Given the description of an element on the screen output the (x, y) to click on. 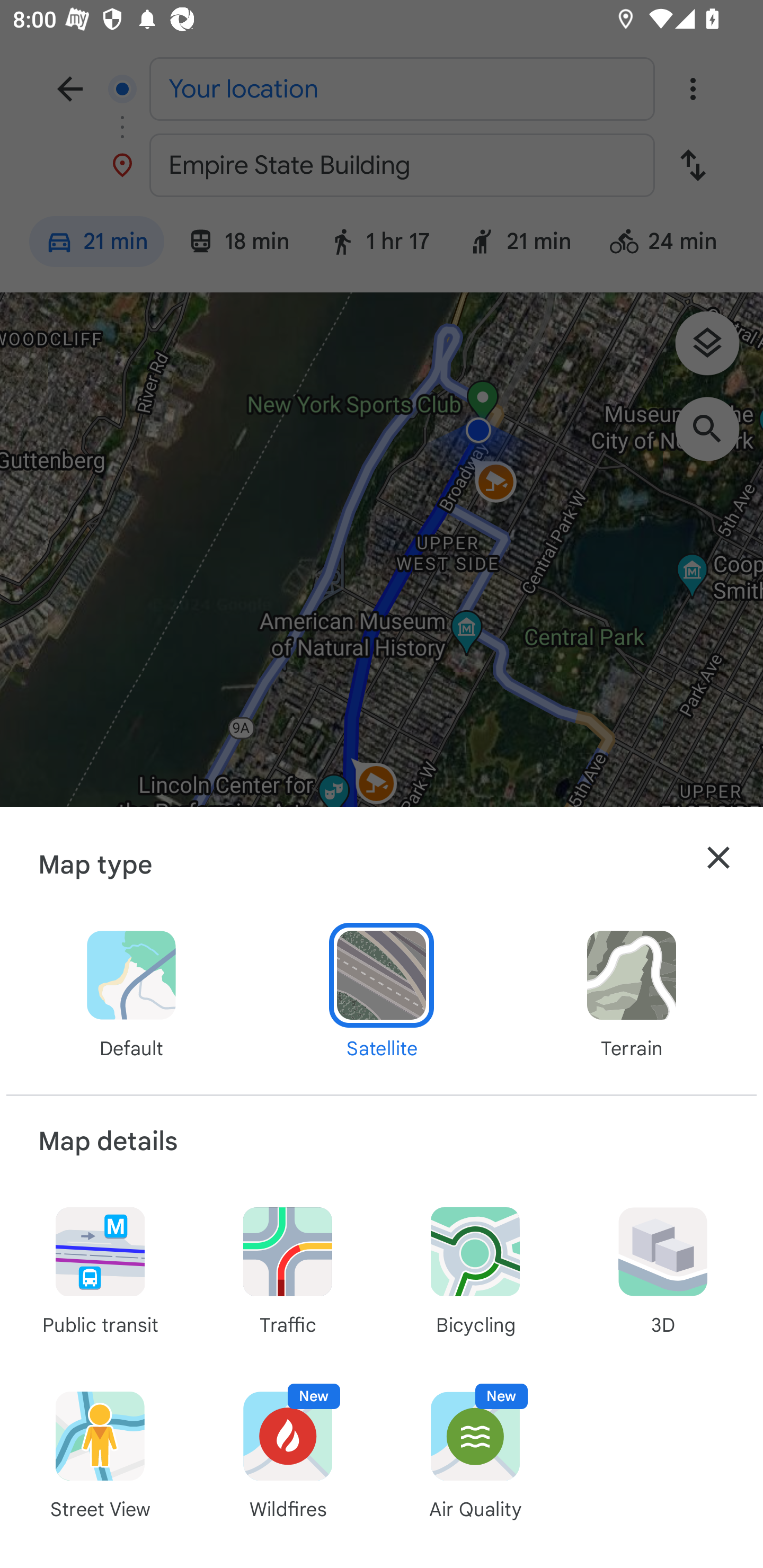
Close menu (718, 857)
Default (131, 993)
Satellite (381, 993)
Terrain (631, 993)
Public transit (100, 1269)
Traffic (287, 1269)
Bicycling (474, 1269)
3D (662, 1269)
Street View (100, 1453)
New, Wildfires New Wildfires (287, 1453)
New, Air Quality New Air Quality (474, 1453)
